Given the description of an element on the screen output the (x, y) to click on. 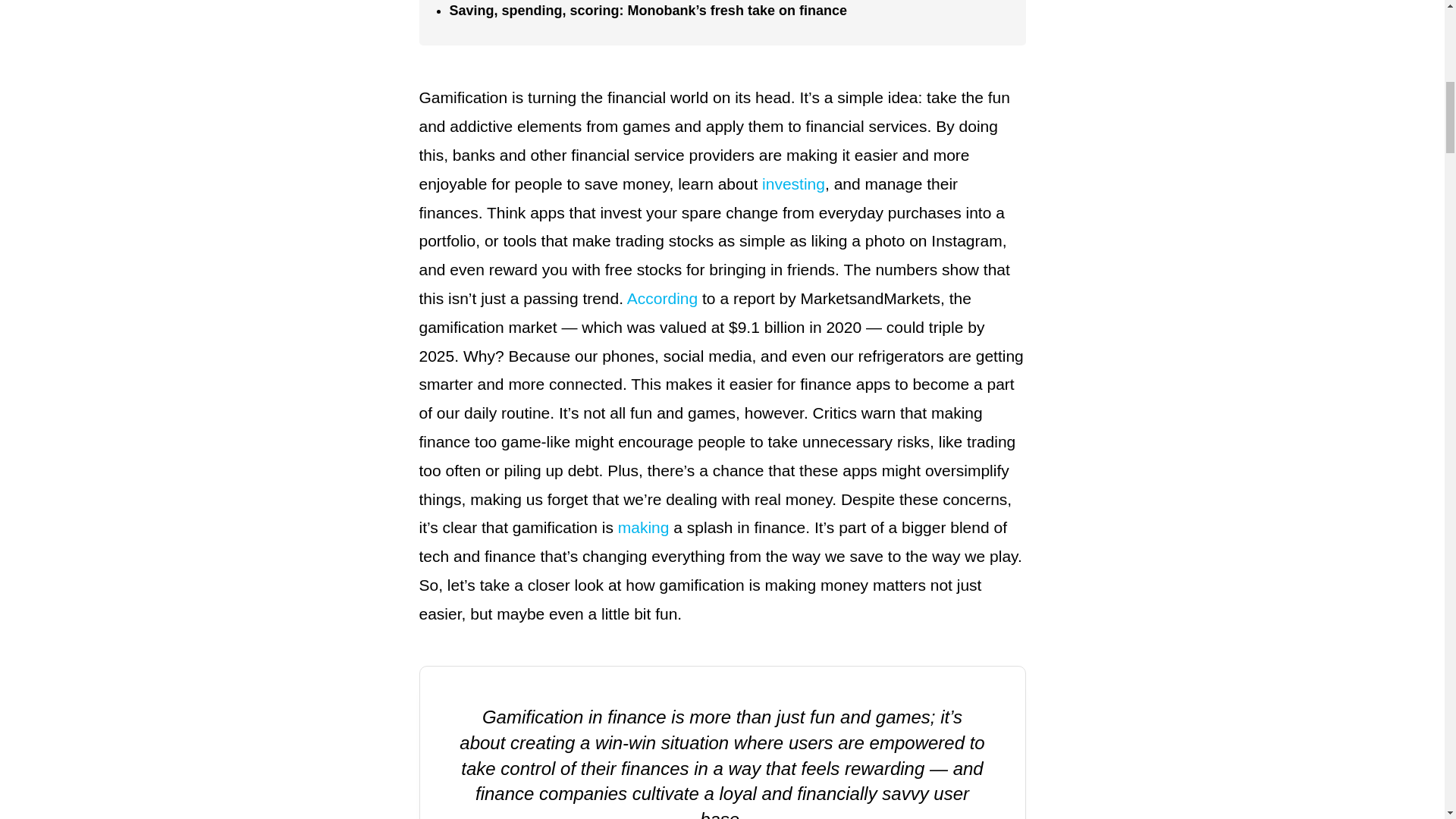
investing (793, 183)
According (662, 298)
making (643, 527)
